Given the description of an element on the screen output the (x, y) to click on. 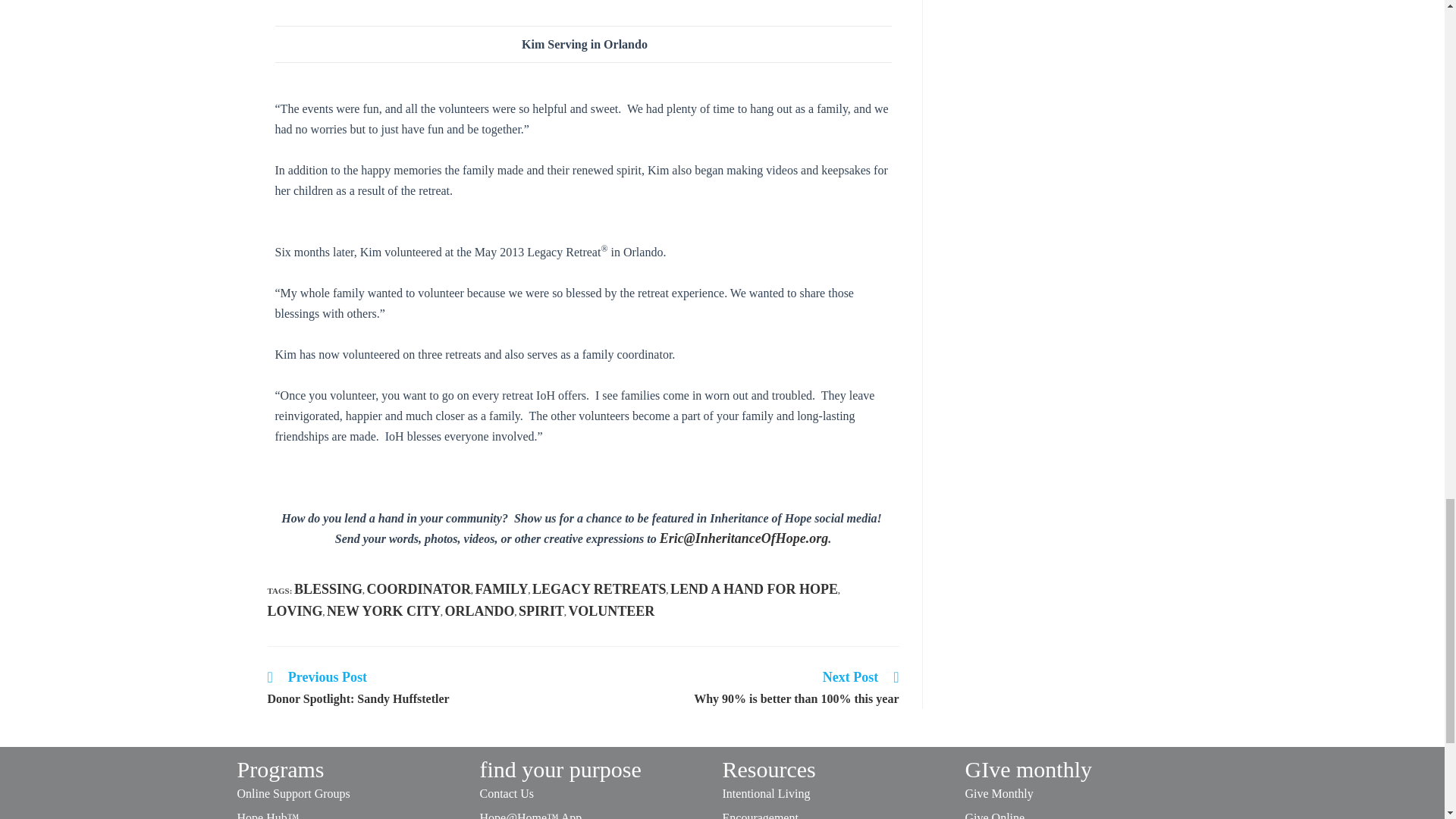
Kim Serving in Orlando (582, 9)
